Given the description of an element on the screen output the (x, y) to click on. 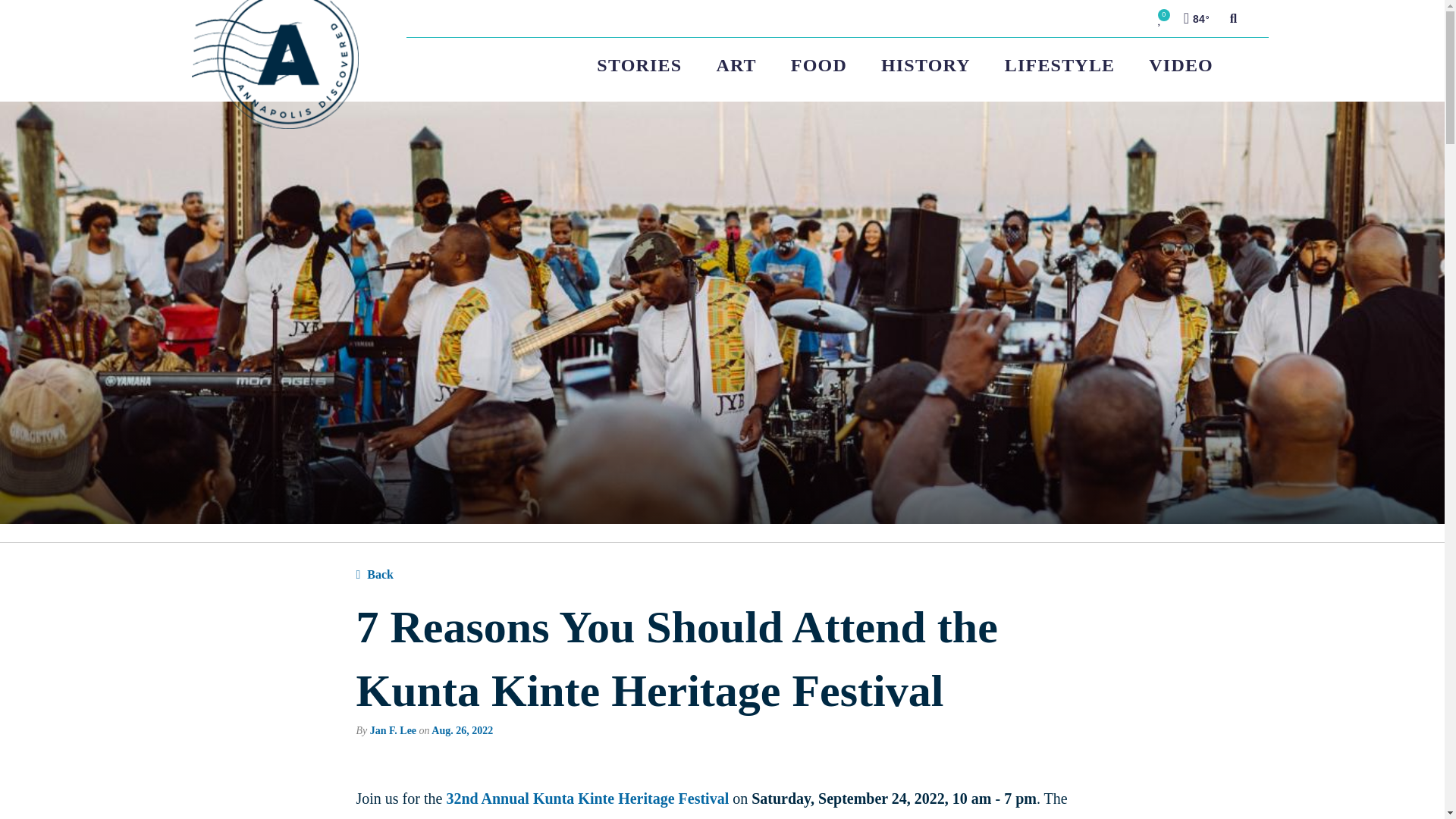
STORIES (647, 65)
VIDEO (1181, 65)
32nd Annual Kunta Kinte Heritage Festival (587, 798)
Kunta Kinte Heritage Festival (453, 817)
LIFESTYLE (1059, 65)
Jan F. Lee (392, 730)
HISTORY (925, 65)
FOOD (818, 65)
ART (735, 65)
Back (375, 574)
